Given the description of an element on the screen output the (x, y) to click on. 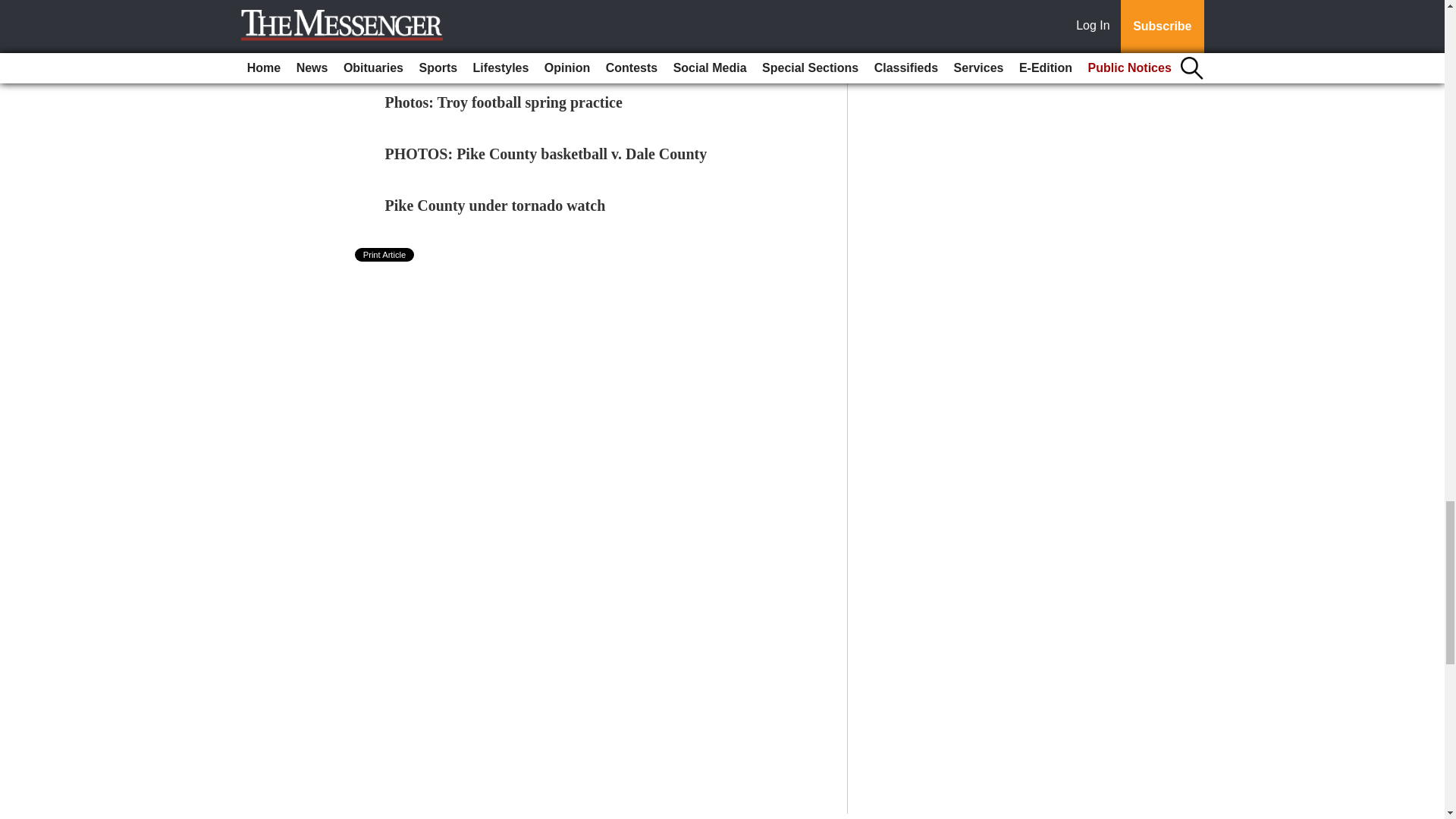
Photos: Troy football spring practice (504, 102)
PHOTOS: Pike County basketball v. Dale County (546, 153)
Pike County under tornado watch (495, 205)
FREE EDITION THURSDAY (483, 50)
